Given the description of an element on the screen output the (x, y) to click on. 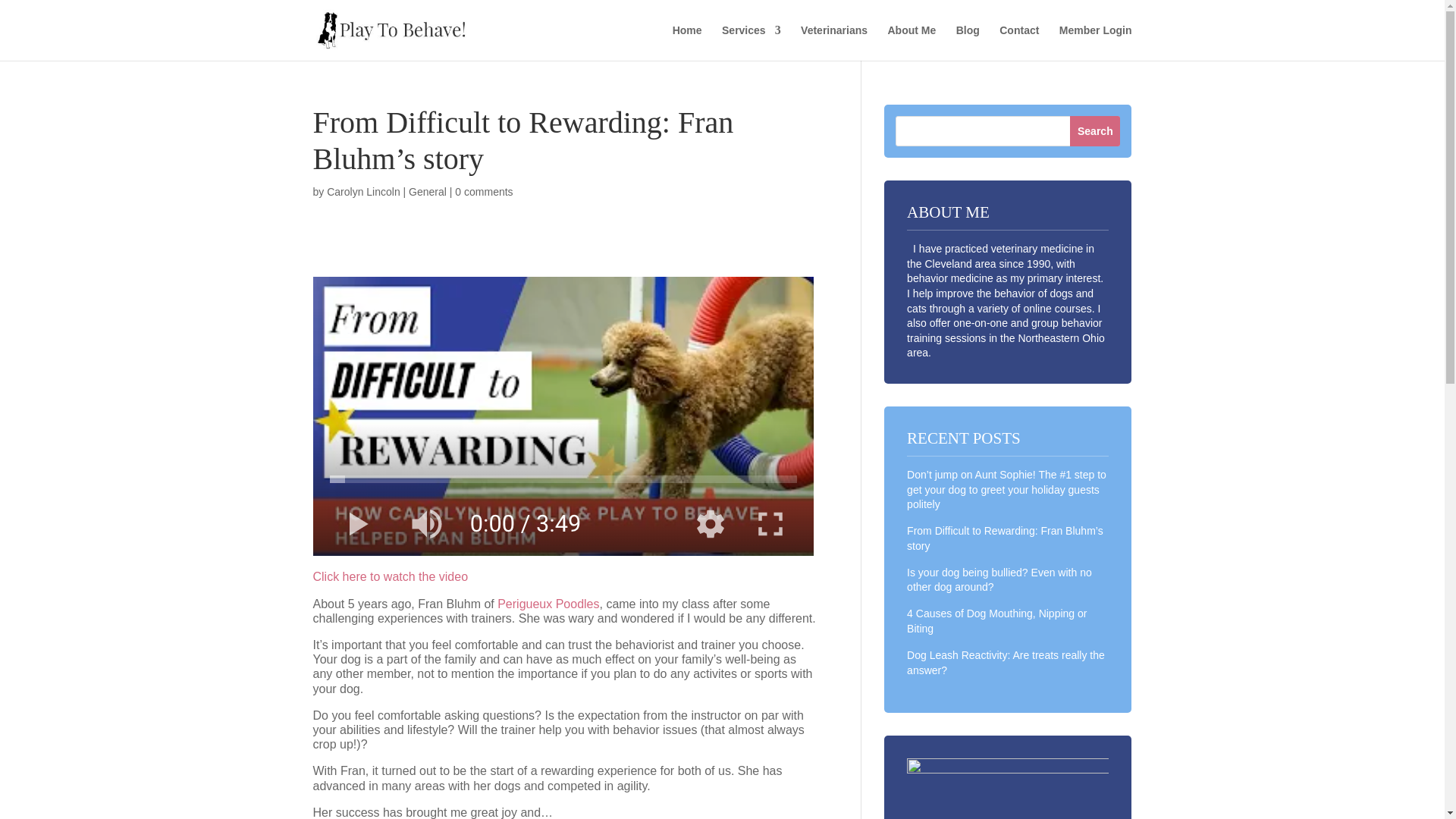
Dog Leash Reactivity: Are treats really the answer? (1006, 662)
Veterinarians (833, 42)
Search (1094, 131)
Is your dog being bullied? Even with no other dog around? (999, 579)
Perigueux Poodles (547, 603)
Search (1094, 131)
Posts by Carolyn Lincoln (363, 191)
About Me (911, 42)
General (427, 191)
Member Login (1095, 42)
Home (686, 42)
Blog (967, 42)
Carolyn Lincoln (363, 191)
Click here to watch the video (390, 576)
